Given the description of an element on the screen output the (x, y) to click on. 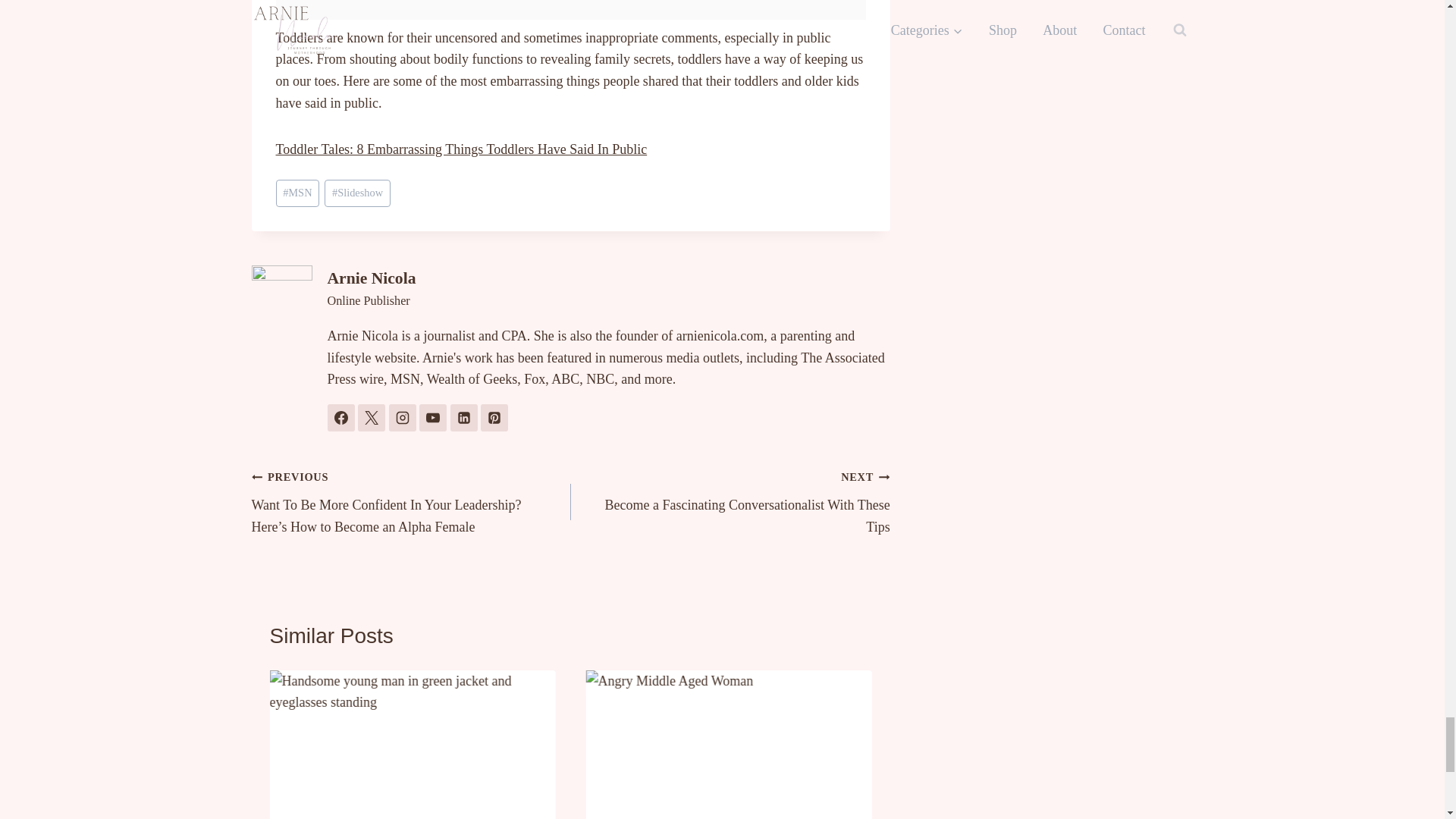
Follow Arnie Nicola on X formerly Twitter (371, 417)
Follow Arnie Nicola on Facebook (341, 417)
Slideshow (357, 193)
Posts by Arnie Nicola (371, 278)
Follow Arnie Nicola on Youtube (432, 417)
Follow Arnie Nicola on Linkedin (463, 417)
MSN (298, 193)
Follow Arnie Nicola on Instagram (401, 417)
Follow Arnie Nicola on Pinterest (494, 417)
